Given the description of an element on the screen output the (x, y) to click on. 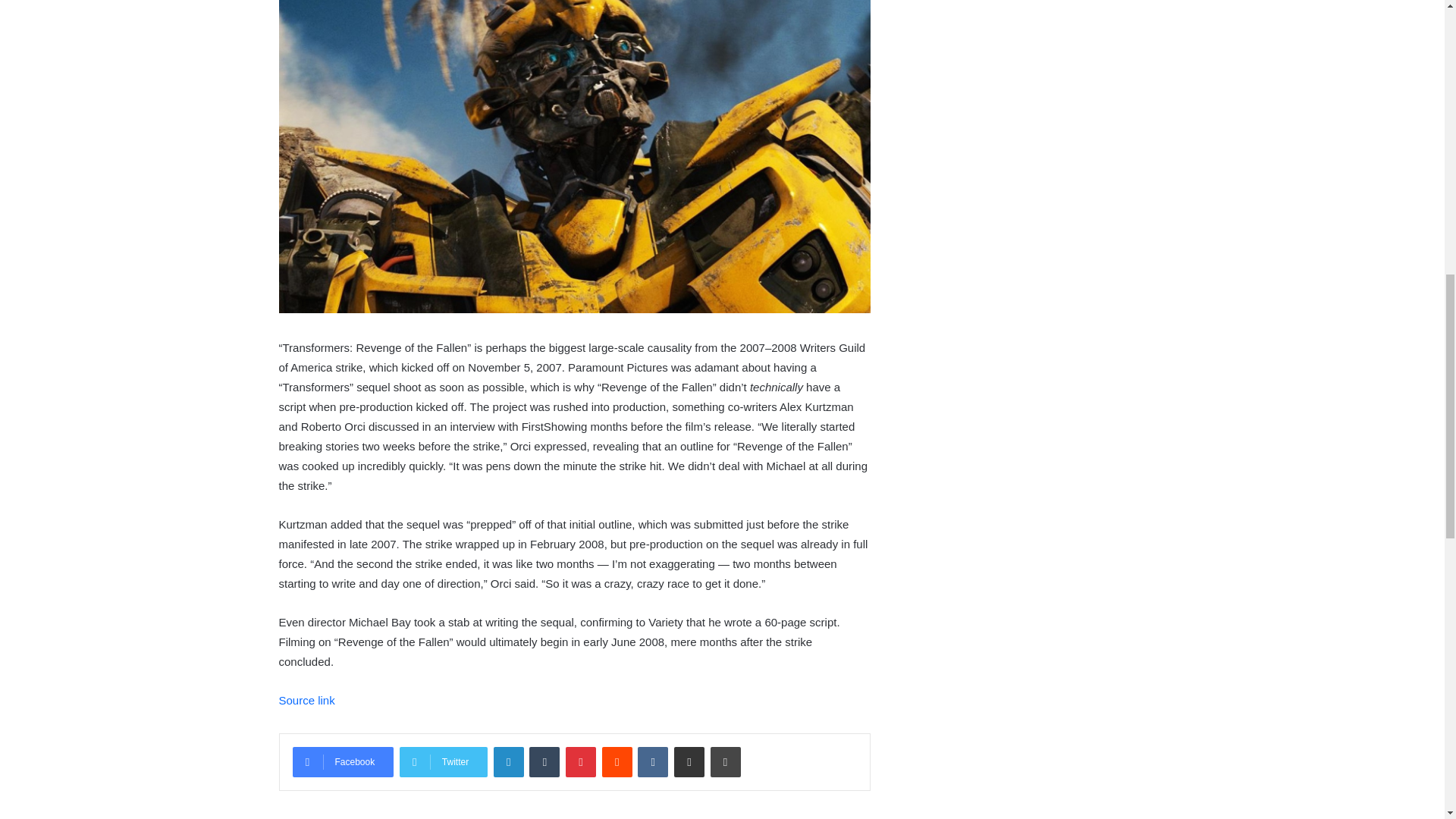
LinkedIn (508, 761)
Twitter (442, 761)
Pinterest (580, 761)
Share via Email (689, 761)
LinkedIn (508, 761)
Pinterest (580, 761)
Tumblr (544, 761)
Source link (306, 699)
Tumblr (544, 761)
Facebook (343, 761)
